Given the description of an element on the screen output the (x, y) to click on. 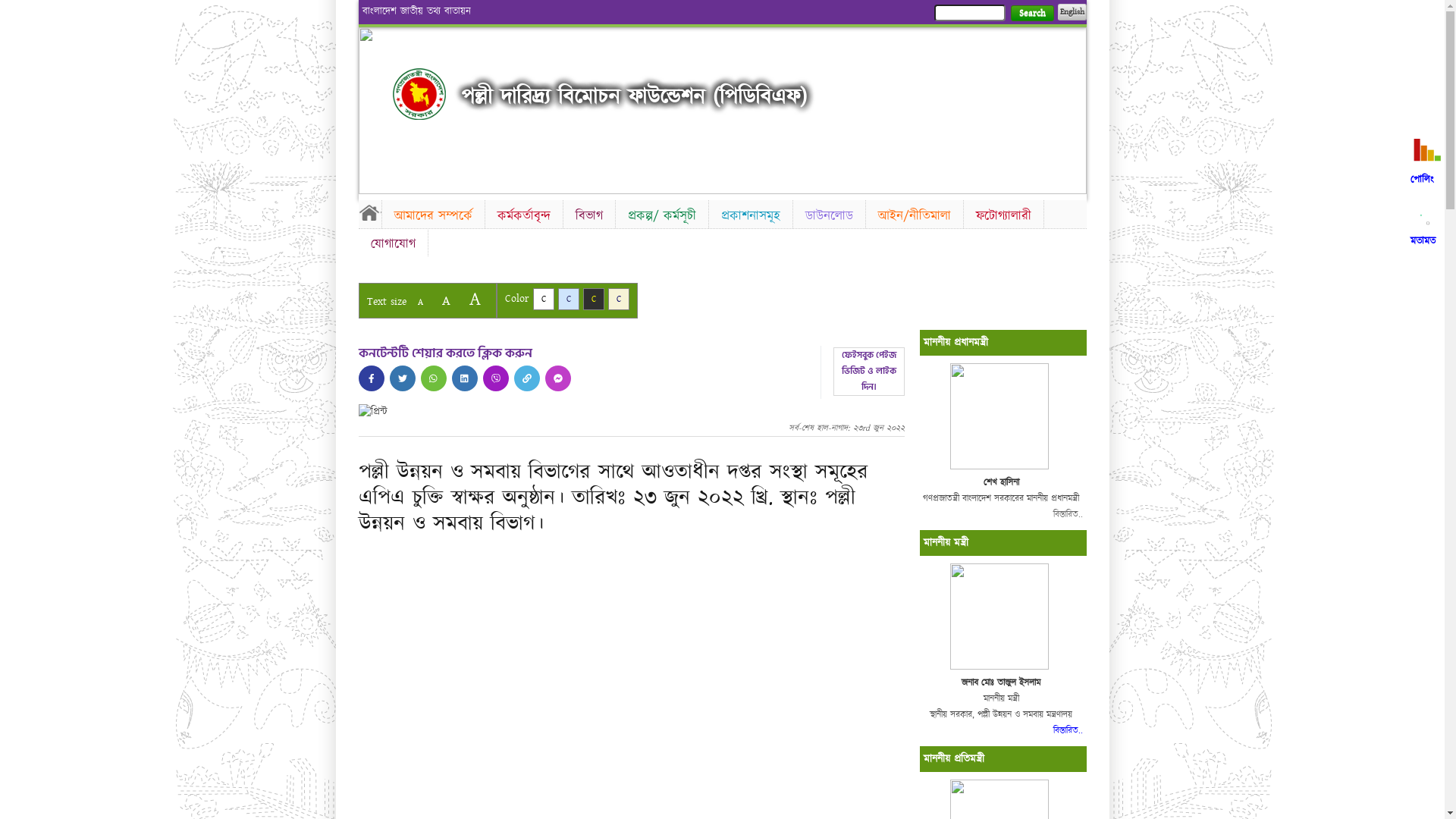
English Element type: text (1071, 11)
Search Element type: text (1031, 13)
Home Element type: hover (418, 93)
C Element type: text (592, 299)
A Element type: text (445, 300)
C Element type: text (618, 299)
C Element type: text (568, 299)
A Element type: text (474, 298)
C Element type: text (542, 299)
Home Element type: hover (368, 211)
A Element type: text (419, 301)
